Given the description of an element on the screen output the (x, y) to click on. 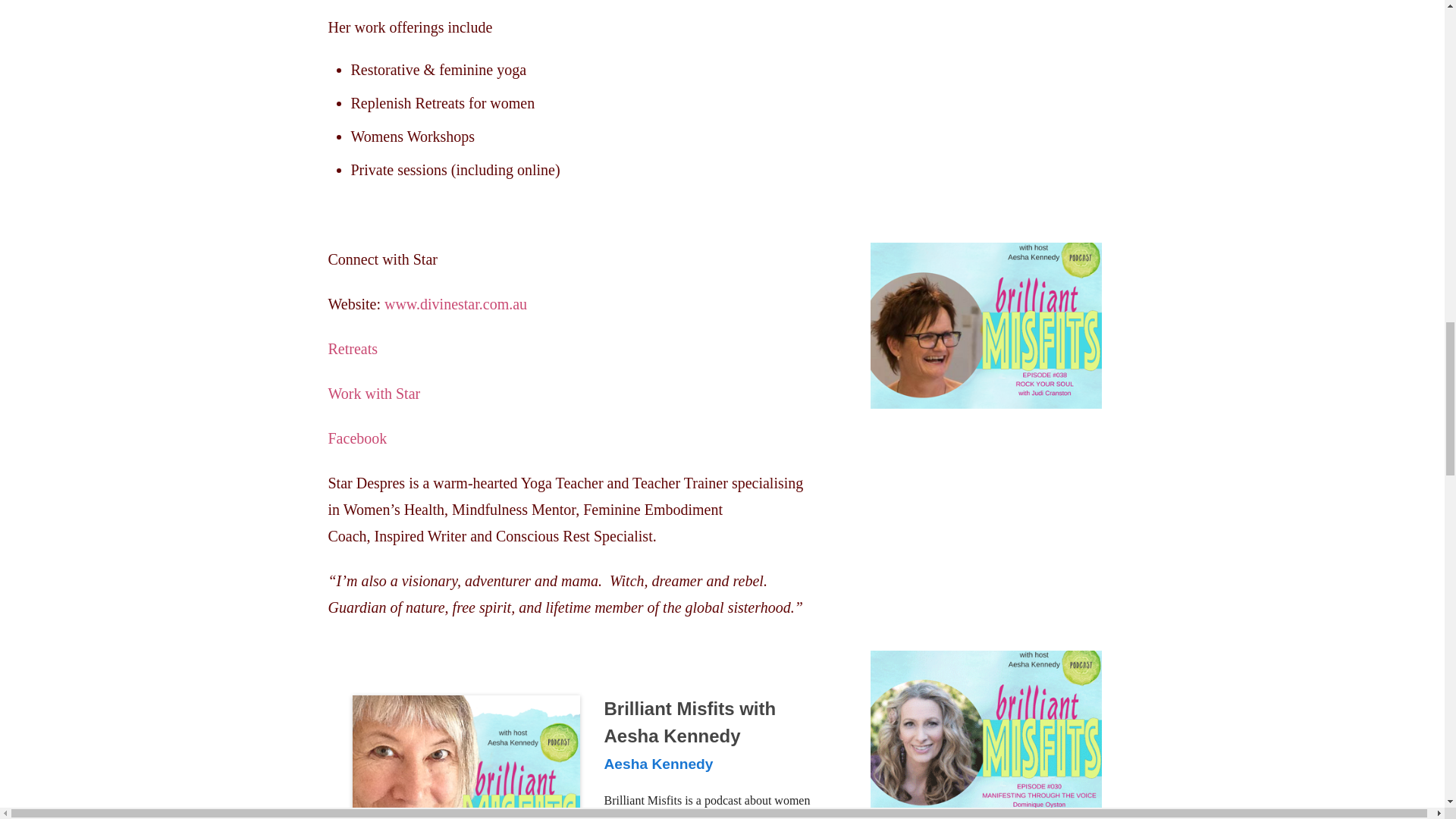
Brilliant Misfits with Aesha Kennedy (465, 757)
www.divinestar.com.au (455, 303)
Retreats (352, 348)
Work with Star (373, 393)
Facebook (357, 437)
